Given the description of an element on the screen output the (x, y) to click on. 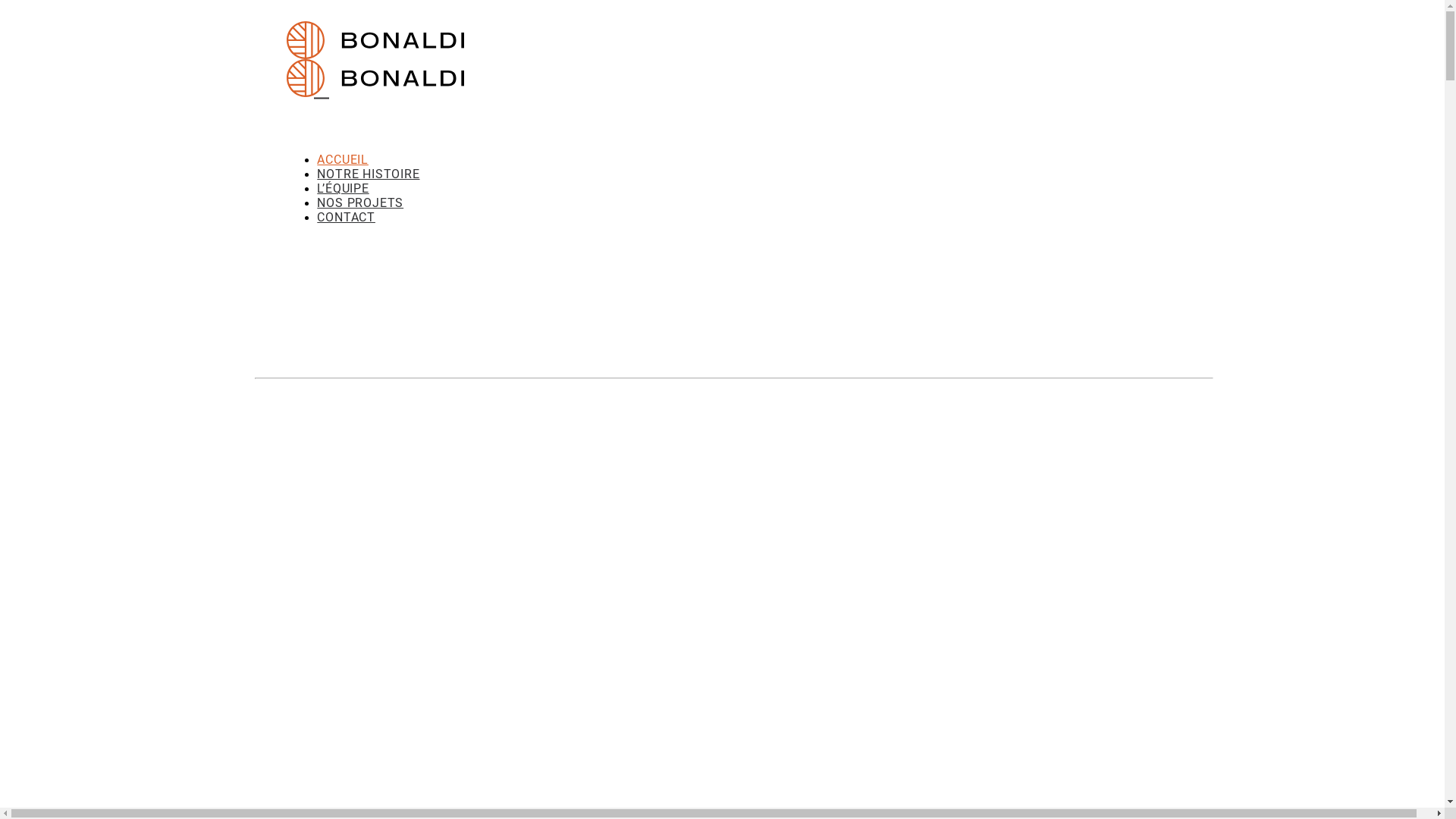
NOTRE HISTOIRE Element type: text (367, 173)
NOS PROJETS Element type: text (359, 202)
CONTACT Element type: text (345, 217)
ACCUEIL Element type: text (342, 159)
